Given the description of an element on the screen output the (x, y) to click on. 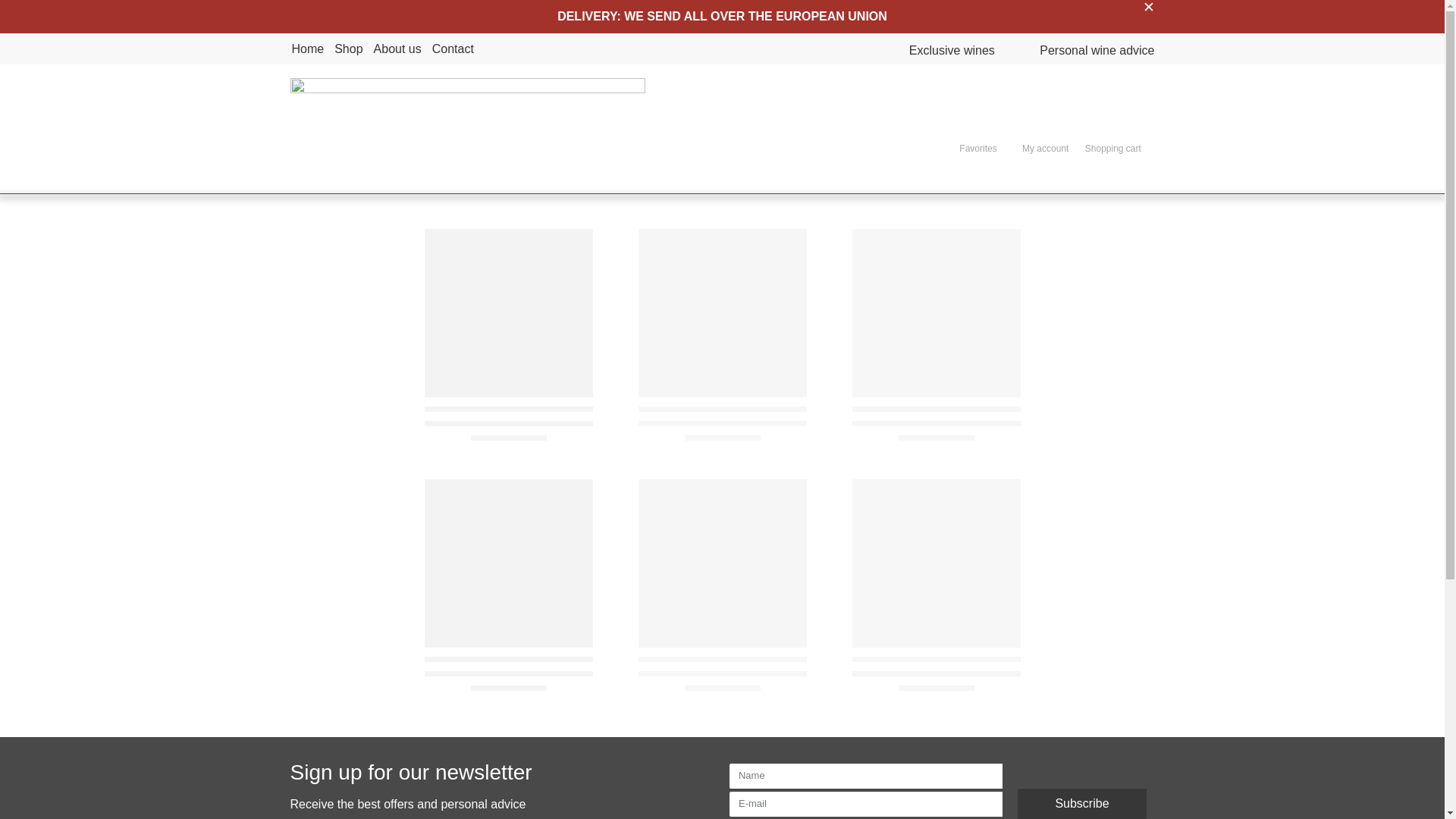
Shop (348, 48)
About us (397, 48)
Home (306, 48)
Contact (453, 48)
Subscribe (1082, 803)
